Given the description of an element on the screen output the (x, y) to click on. 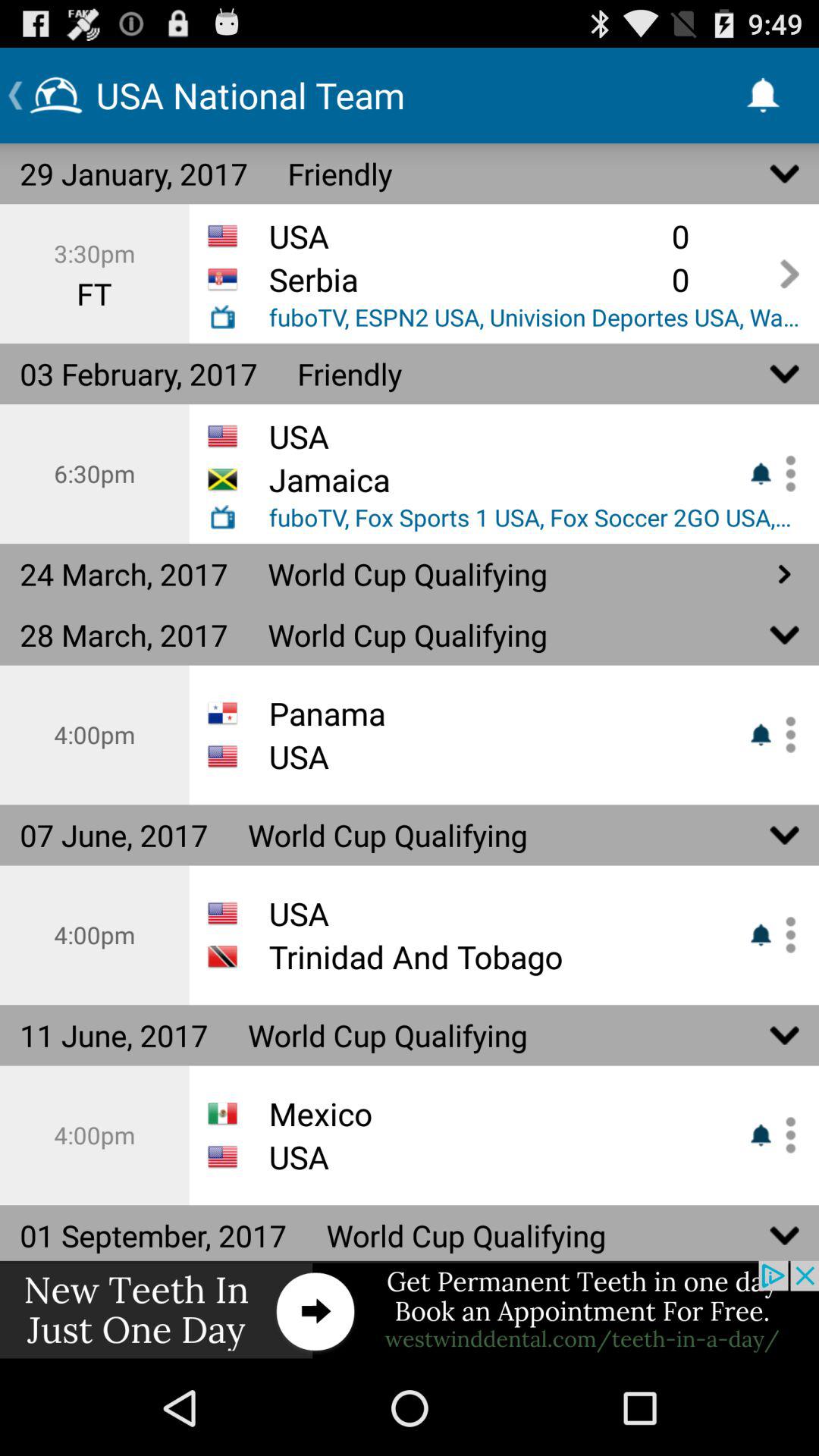
subscribe (785, 1135)
